Given the description of an element on the screen output the (x, y) to click on. 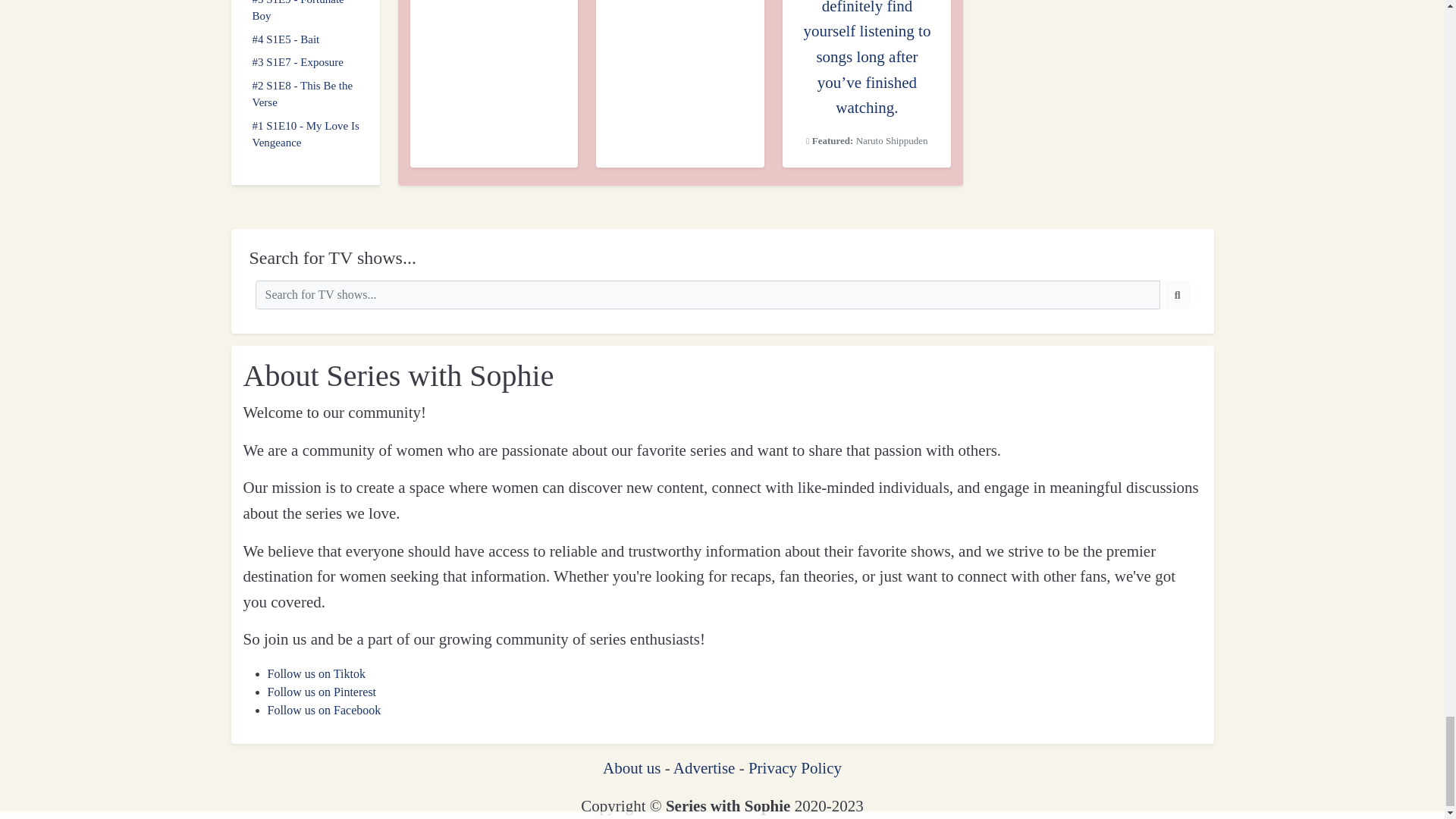
Follow us on Pinterest (320, 691)
Advertise (703, 768)
Follow us on Tiktok (315, 673)
Follow us on Facebook (323, 709)
About us (631, 768)
Follow us on Facebook (323, 709)
Privacy Policy (794, 768)
Follow us on Pinterest (320, 691)
Follow us on Tiktok (315, 673)
